Given the description of an element on the screen output the (x, y) to click on. 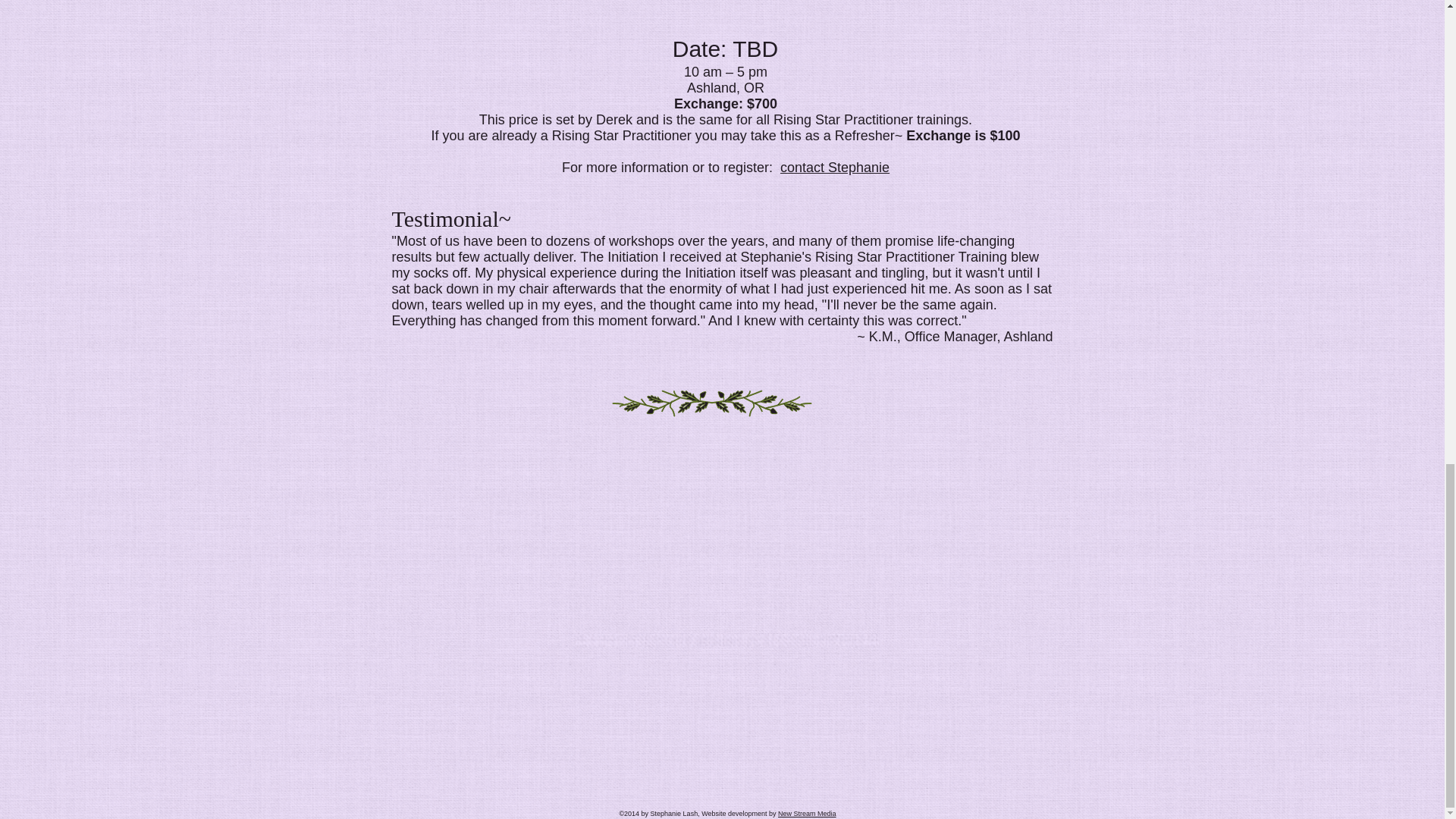
New Stream Media (806, 813)
back ground.png (733, 249)
back ground.png (726, 640)
contact Stephanie (834, 167)
